Given the description of an element on the screen output the (x, y) to click on. 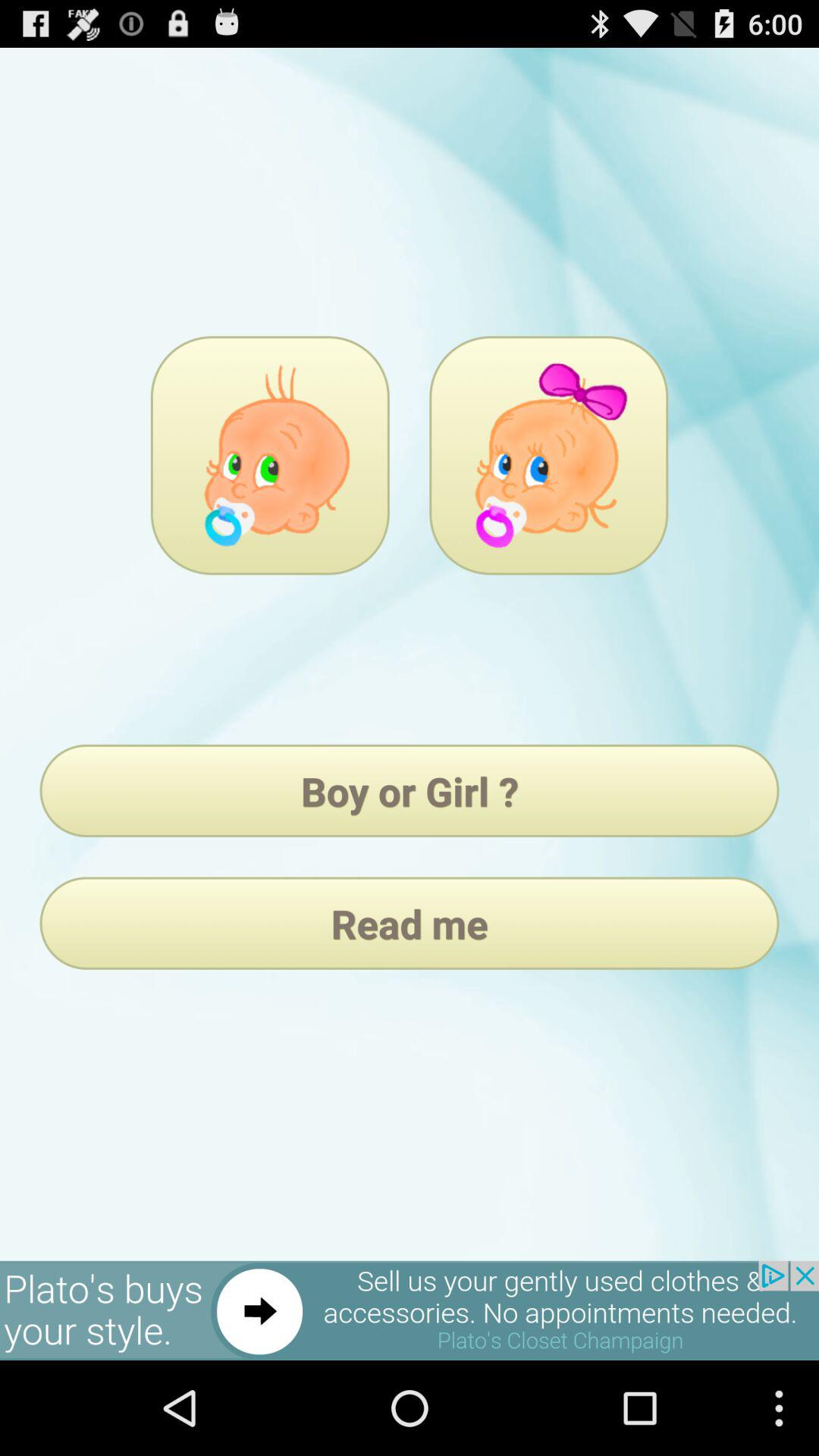
game page (269, 455)
